Given the description of an element on the screen output the (x, y) to click on. 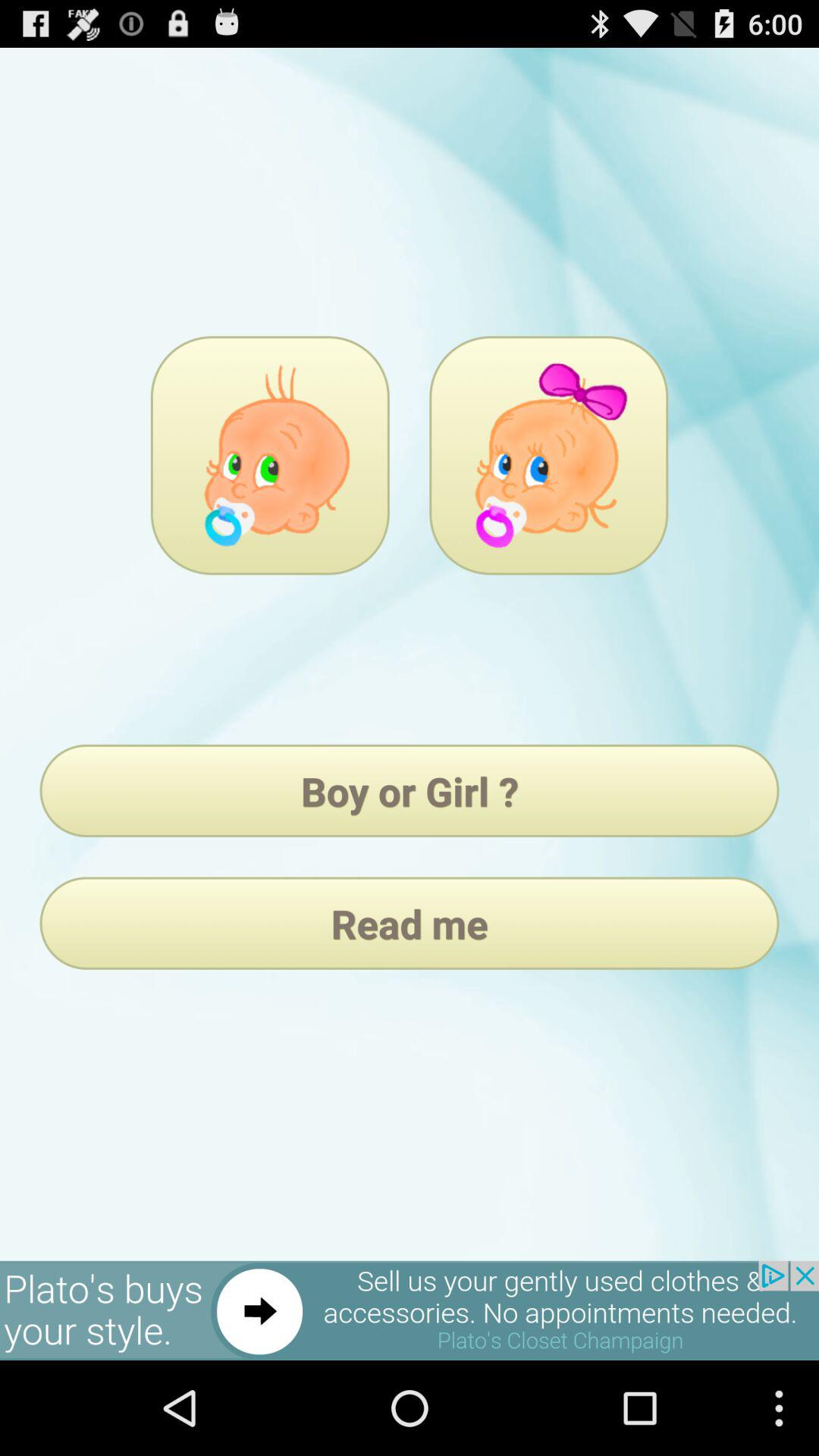
game page (269, 455)
